Given the description of an element on the screen output the (x, y) to click on. 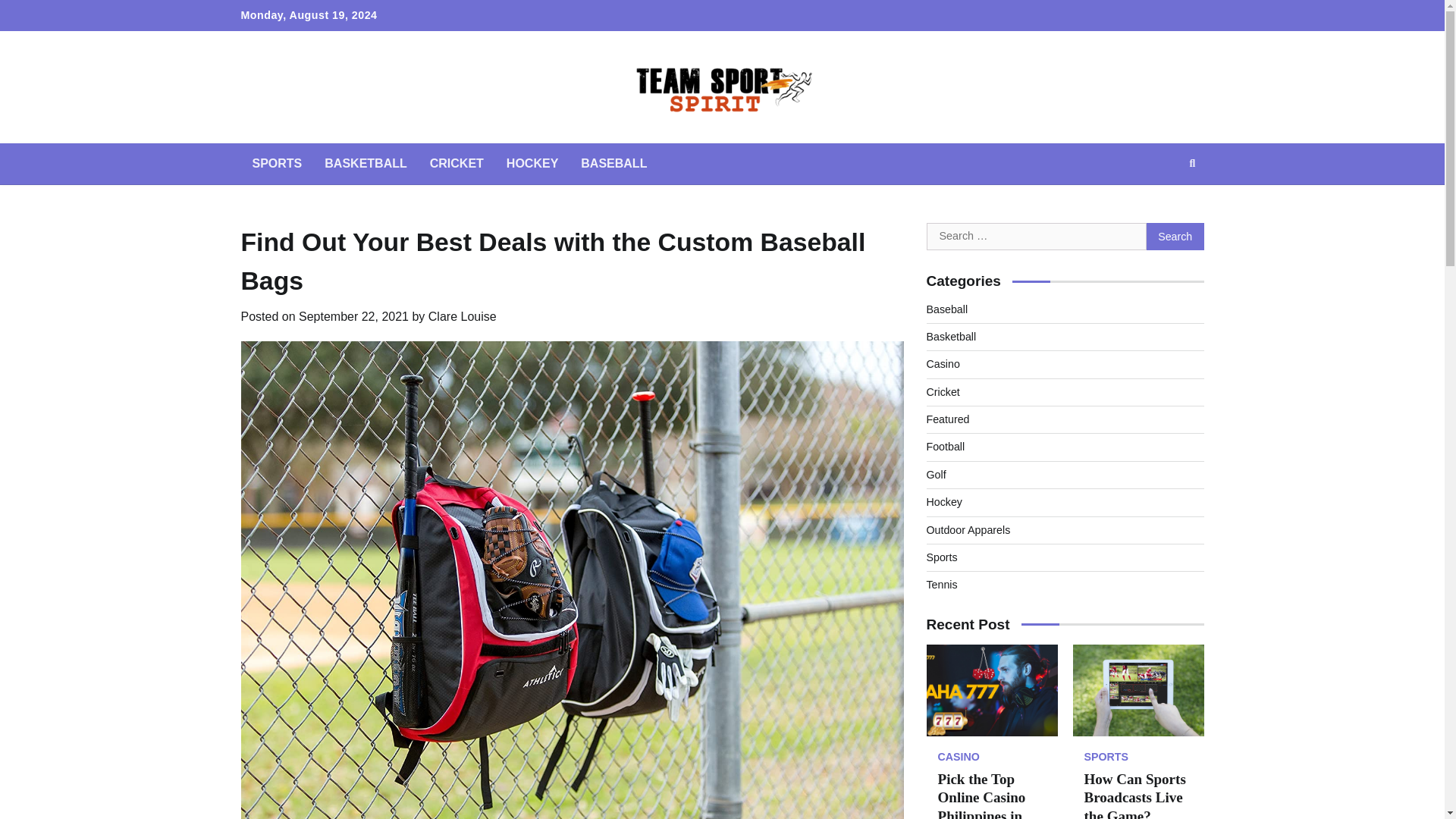
Sports (942, 557)
Search (1192, 163)
September 22, 2021 (353, 316)
Search (1175, 236)
CASINO (957, 756)
HOCKEY (532, 163)
Featured (947, 419)
Golf (936, 474)
SPORTS (277, 163)
Search (1175, 236)
